Given the description of an element on the screen output the (x, y) to click on. 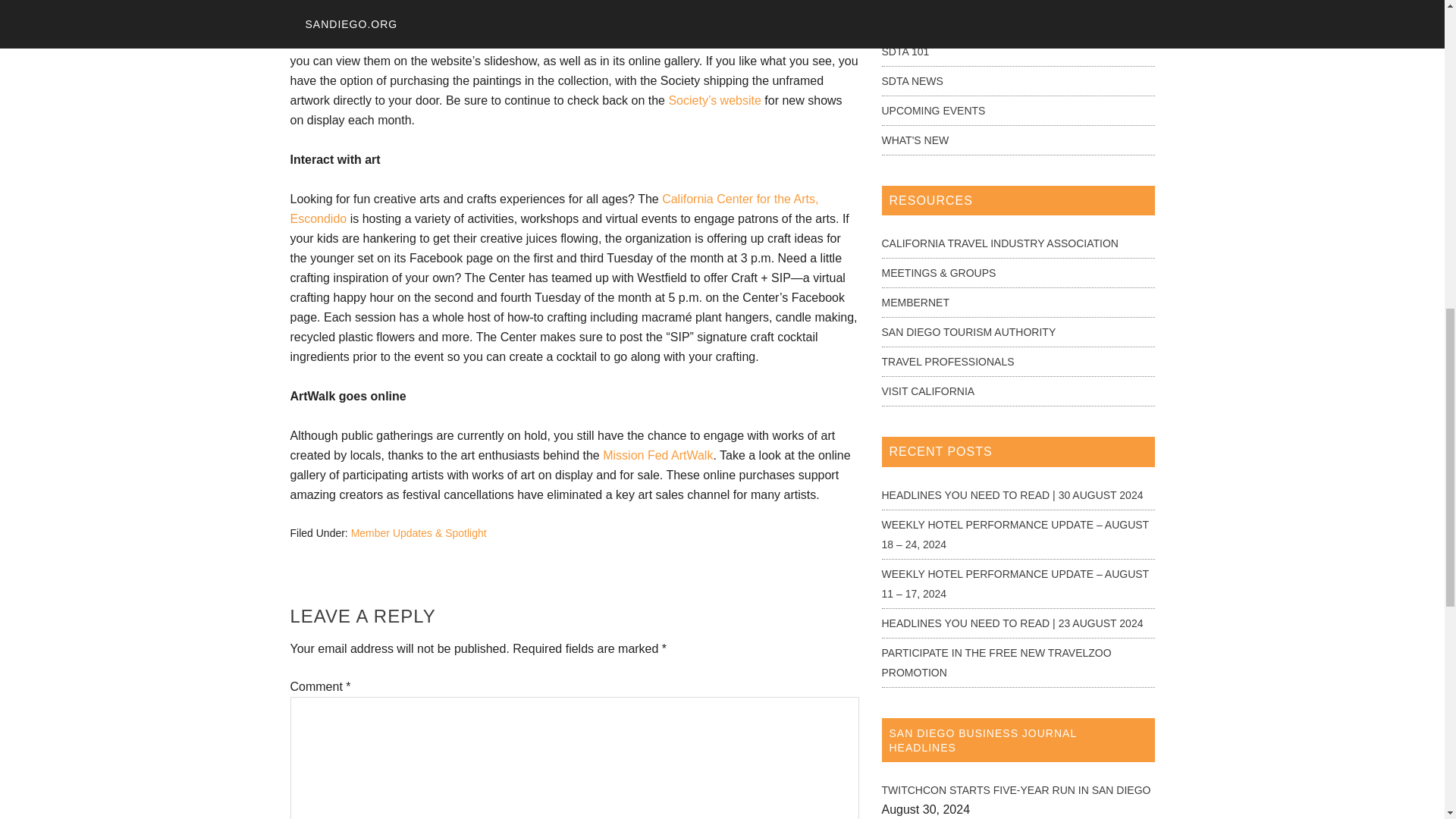
Official tourism website of the San Diego Tourism Authority (967, 331)
California Center for the Arts, Escondido (553, 208)
Mission Fed ArtWalk (657, 454)
Login to MemberNet (914, 302)
SDTA NEWS (911, 80)
WHAT'S NEW (914, 140)
CALIFORNIA TRAVEL INDUSTRY ASSOCIATION (999, 243)
SDTA 101 (904, 51)
UPCOMING EVENTS (932, 110)
